Given the description of an element on the screen output the (x, y) to click on. 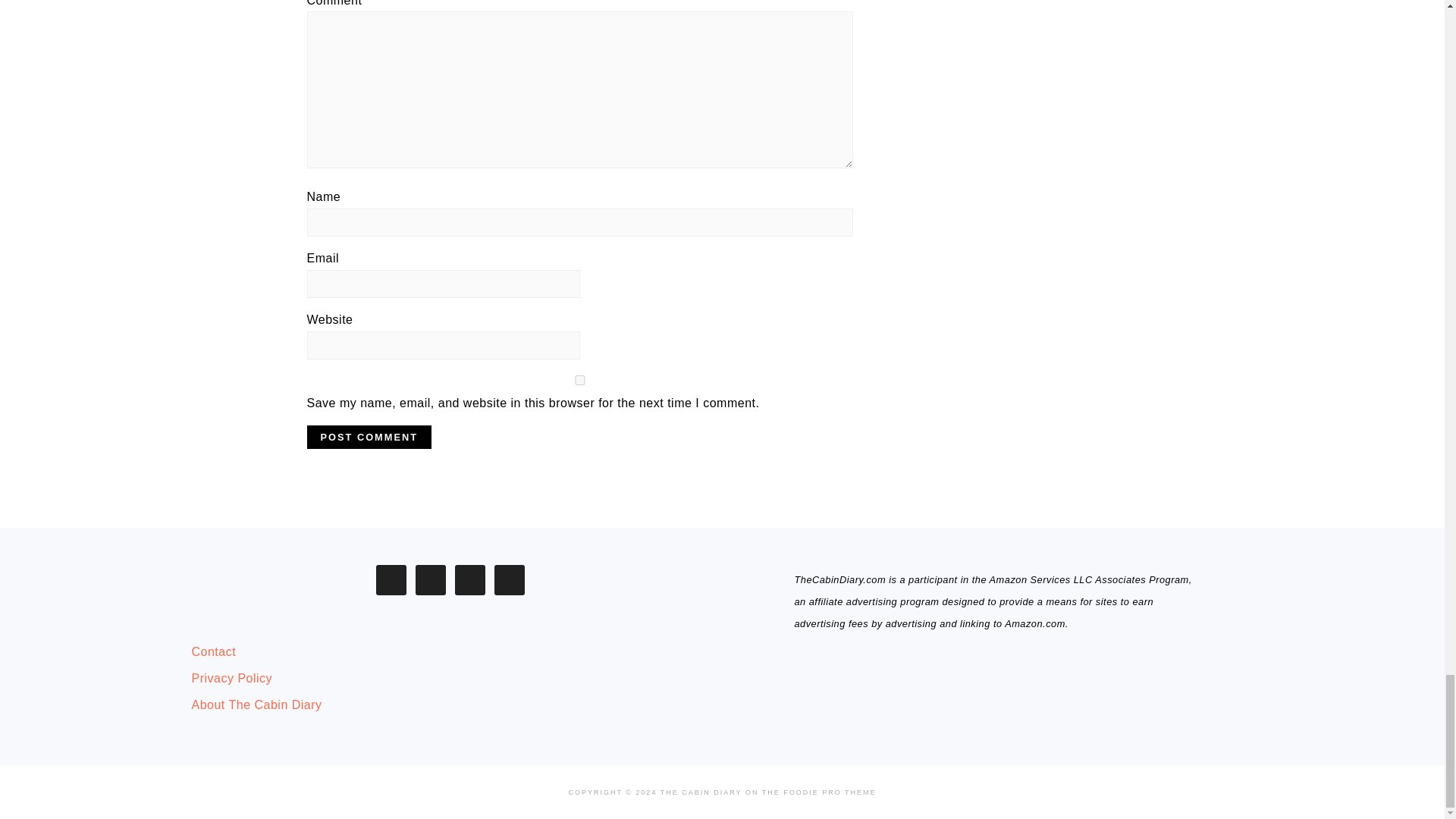
yes (578, 379)
Post Comment (367, 436)
